Given the description of an element on the screen output the (x, y) to click on. 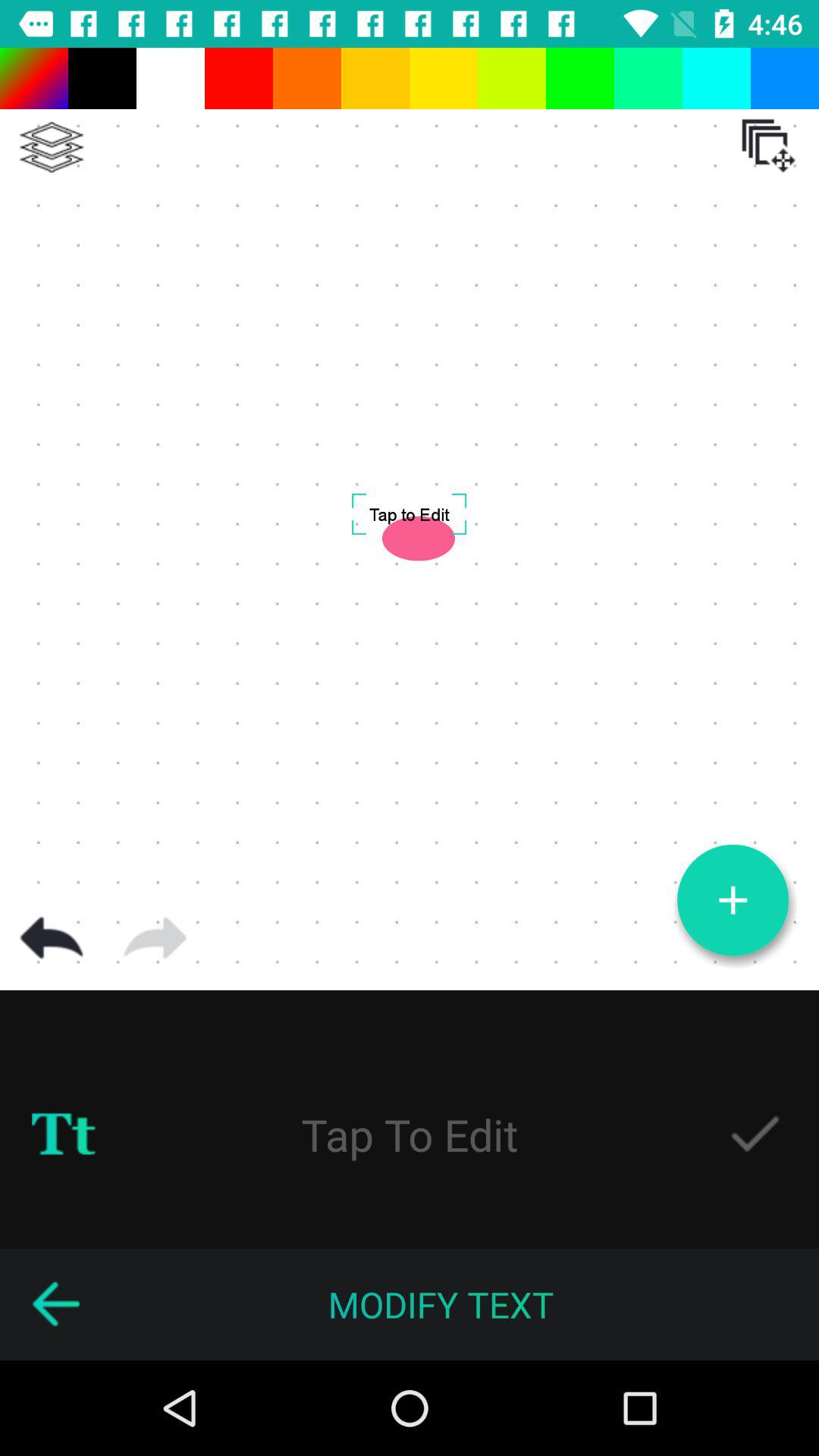
redo edit (155, 938)
